Given the description of an element on the screen output the (x, y) to click on. 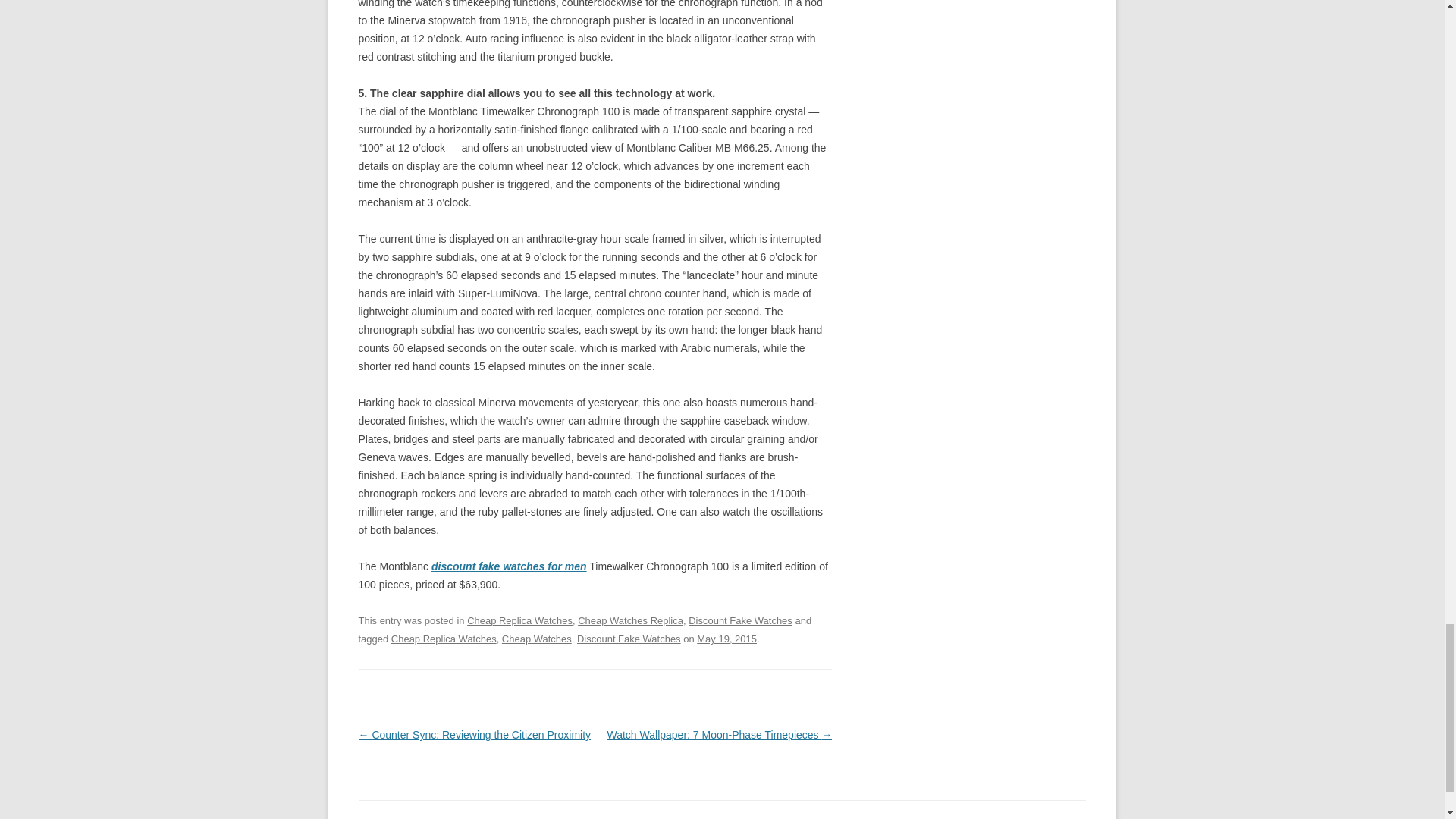
discount fake watches for men (508, 566)
Cheap Replica Watches (519, 620)
discount fake watches for men (508, 566)
10:00 pm (727, 638)
